Given the description of an element on the screen output the (x, y) to click on. 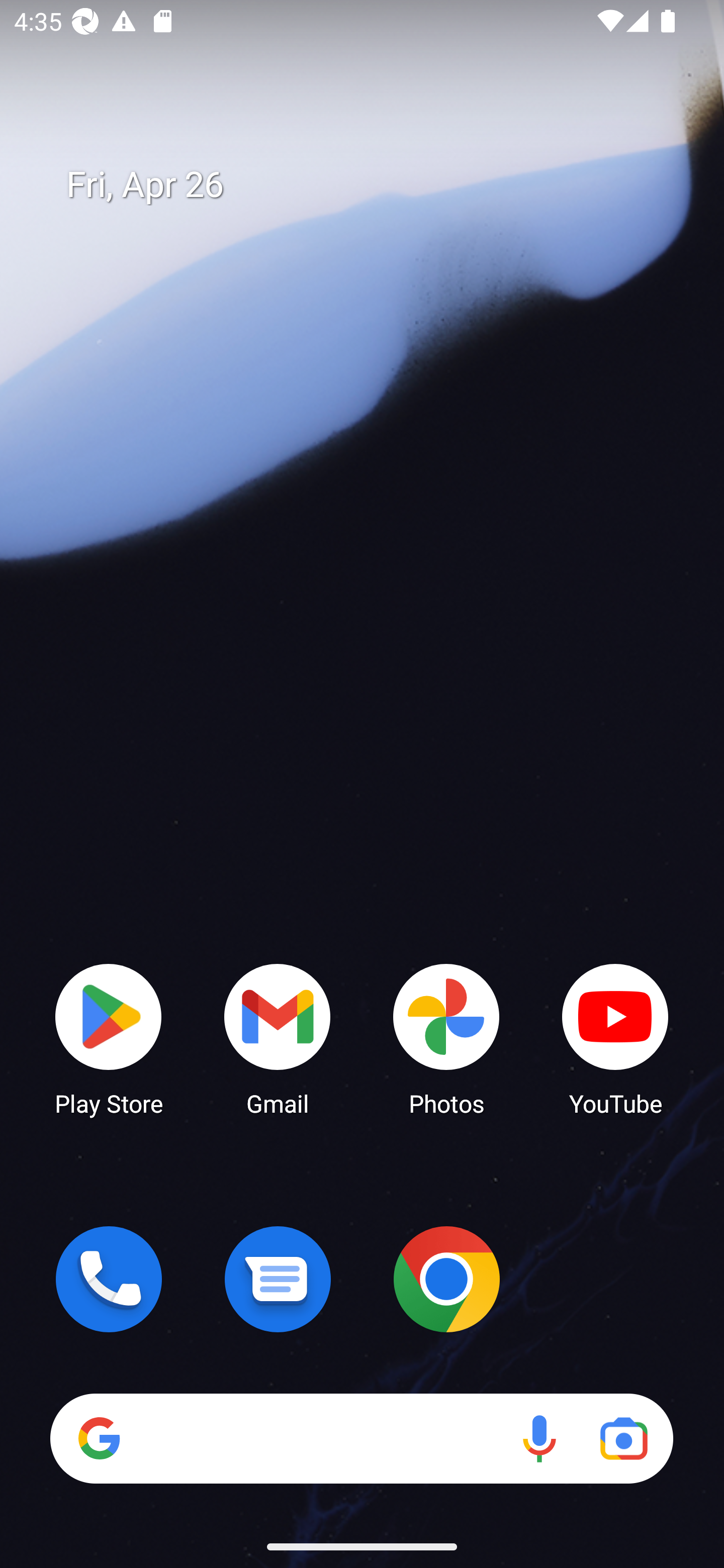
Fri, Apr 26 (375, 184)
Play Store (108, 1038)
Gmail (277, 1038)
Photos (445, 1038)
YouTube (615, 1038)
Phone (108, 1279)
Messages (277, 1279)
Chrome (446, 1279)
Search Voice search Google Lens (361, 1438)
Voice search (539, 1438)
Google Lens (623, 1438)
